Given the description of an element on the screen output the (x, y) to click on. 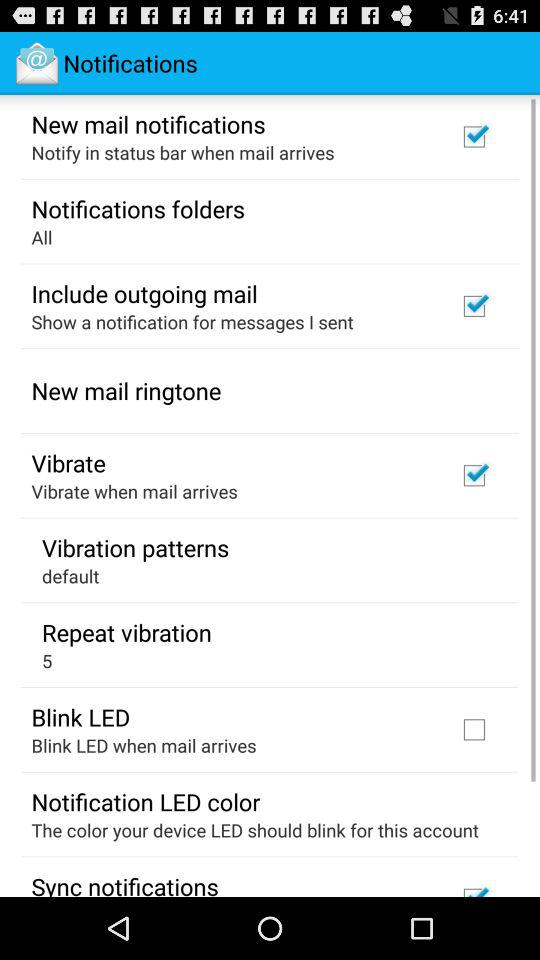
select icon below vibration patterns icon (70, 575)
